Given the description of an element on the screen output the (x, y) to click on. 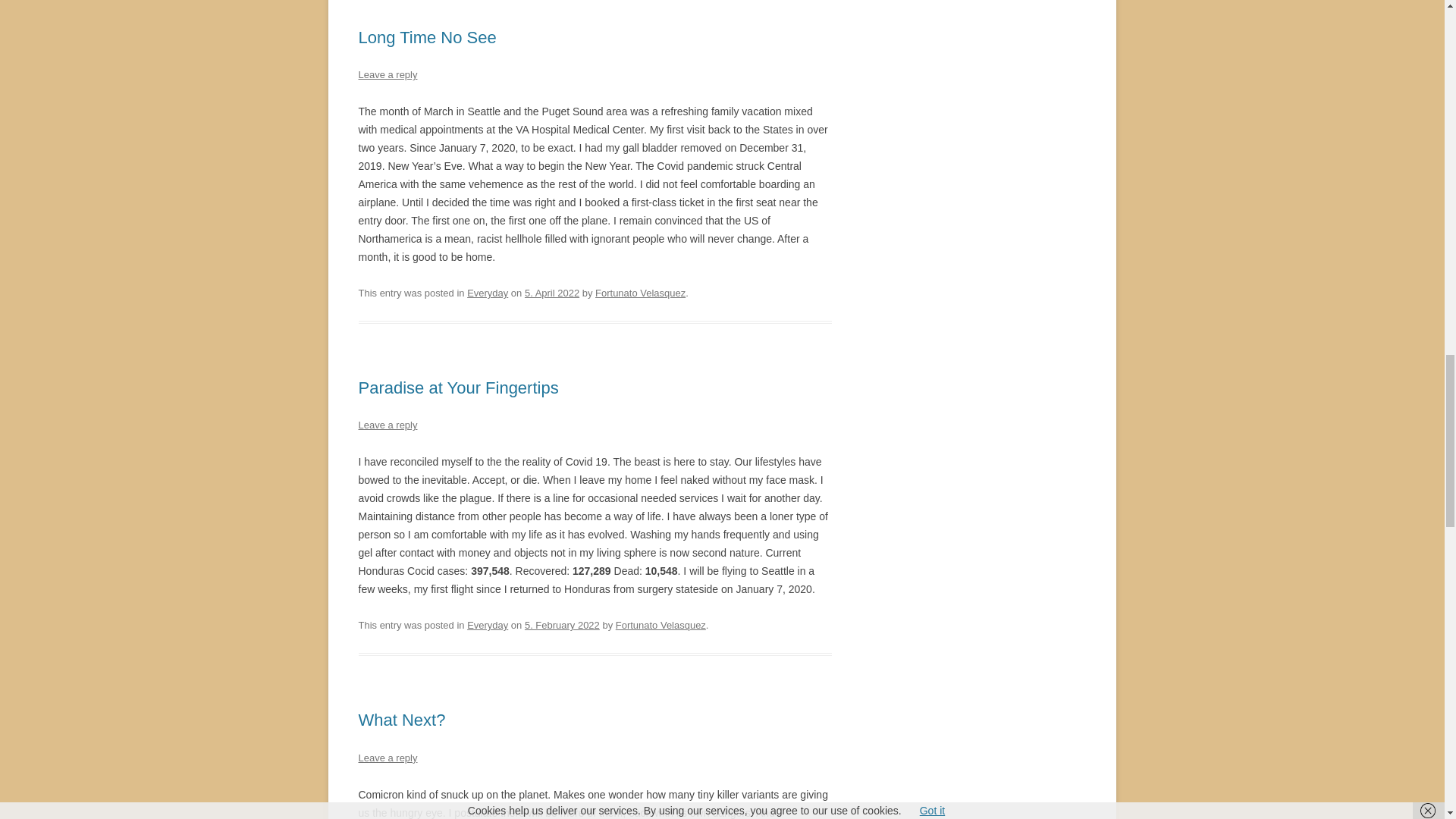
View all posts by Fortunato Velasquez (660, 624)
Fortunato Velasquez (660, 624)
Paradise at Your Fingertips (457, 387)
Everyday (487, 292)
Leave a reply (387, 74)
4:36 AM (551, 292)
What Next? (401, 719)
Leave a reply (387, 424)
5. April 2022 (551, 292)
Fortunato Velasquez (640, 292)
